Given the description of an element on the screen output the (x, y) to click on. 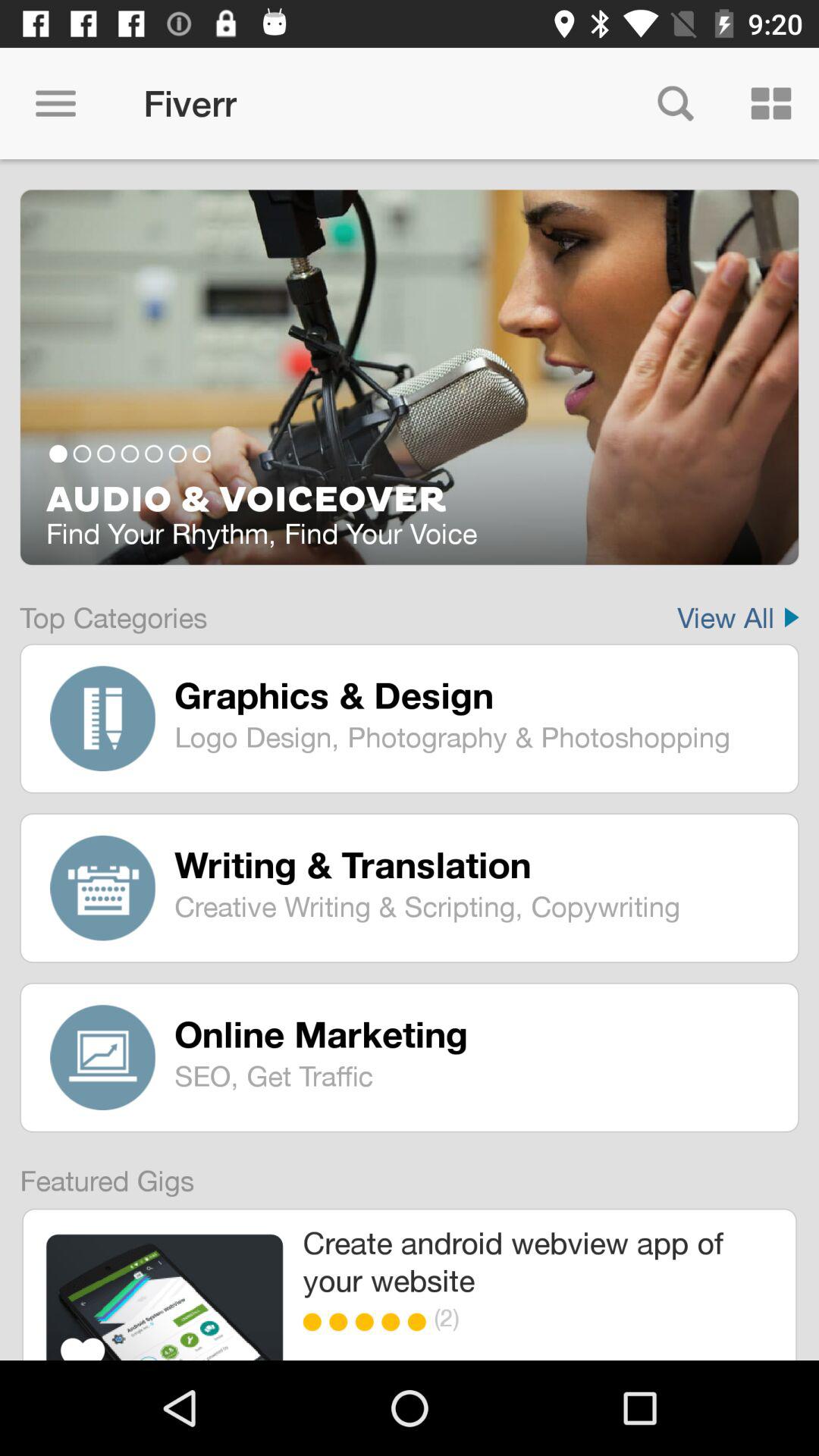
open the logo design photography item (475, 736)
